Given the description of an element on the screen output the (x, y) to click on. 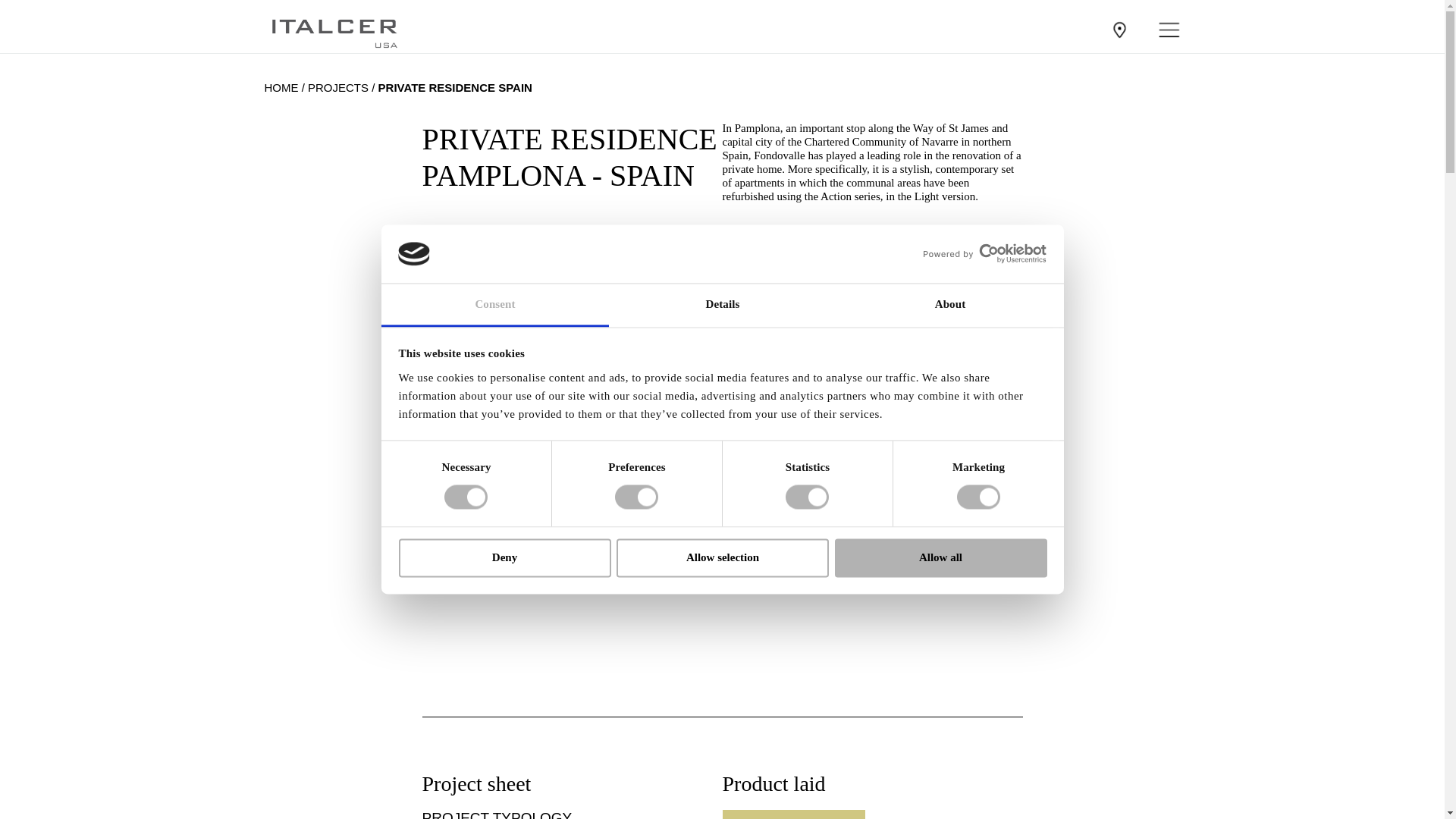
Deny (503, 557)
Contacts (1119, 29)
Details (721, 304)
Consent (494, 304)
Allow all (940, 557)
About (948, 304)
Allow selection (721, 557)
